Given the description of an element on the screen output the (x, y) to click on. 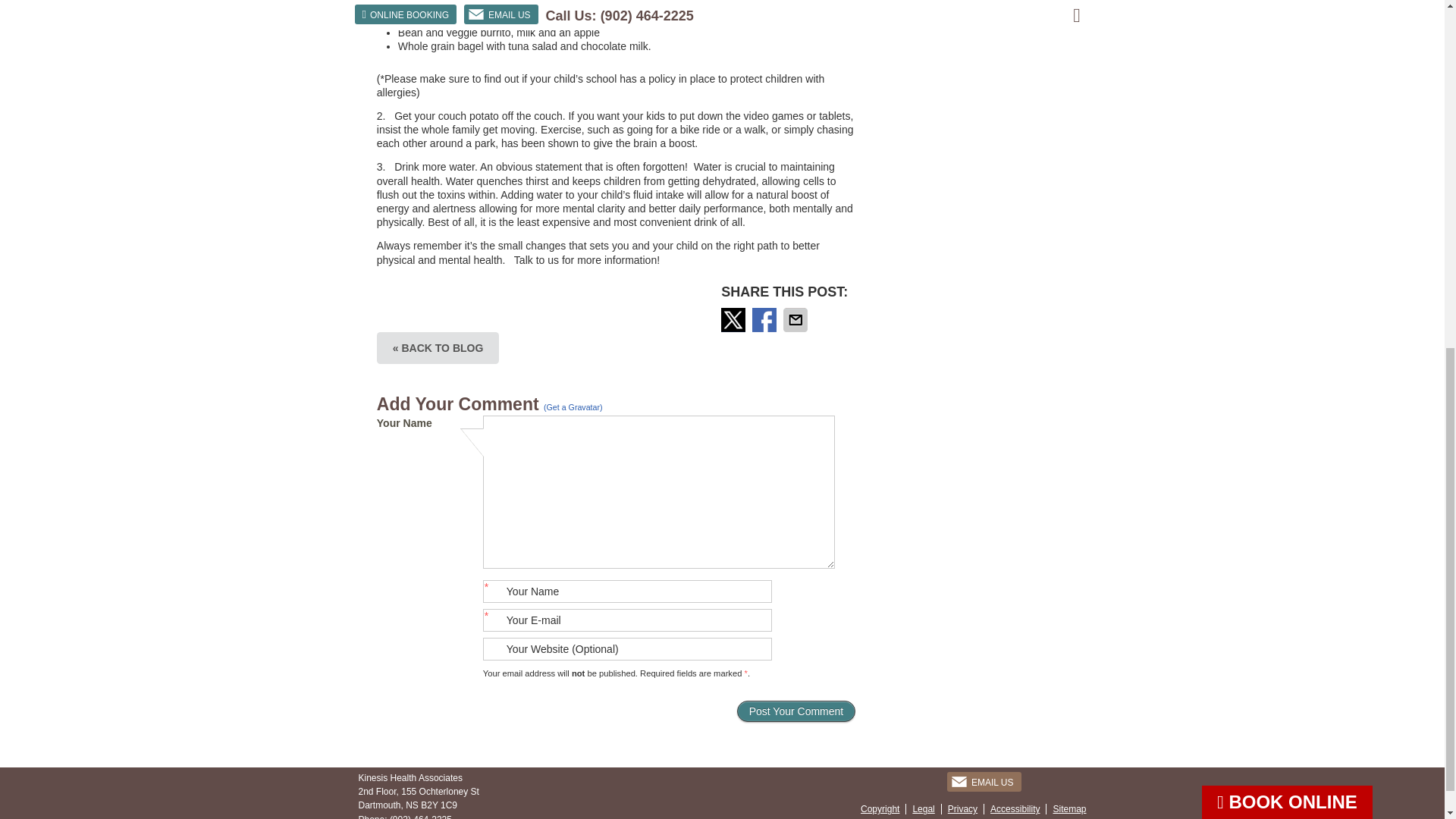
Your E-mail (627, 620)
BOOK ONLINE (1287, 177)
Your E-mail (627, 620)
Contact (984, 781)
Your Name (627, 590)
Your Name (627, 590)
Post Your Comment (796, 711)
